Given the description of an element on the screen output the (x, y) to click on. 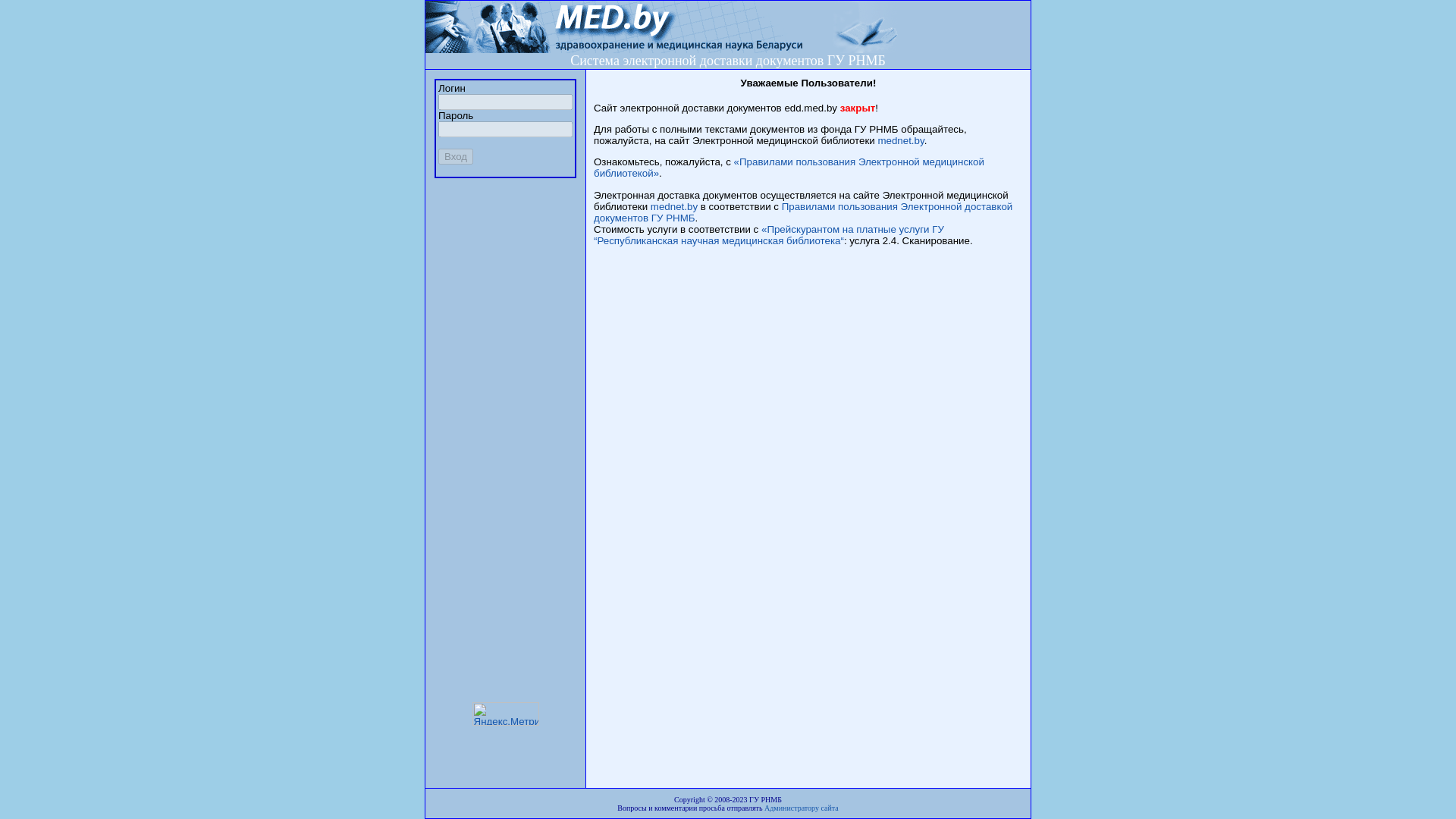
mednet.by Element type: text (900, 140)
mednet.by Element type: text (673, 206)
